Given the description of an element on the screen output the (x, y) to click on. 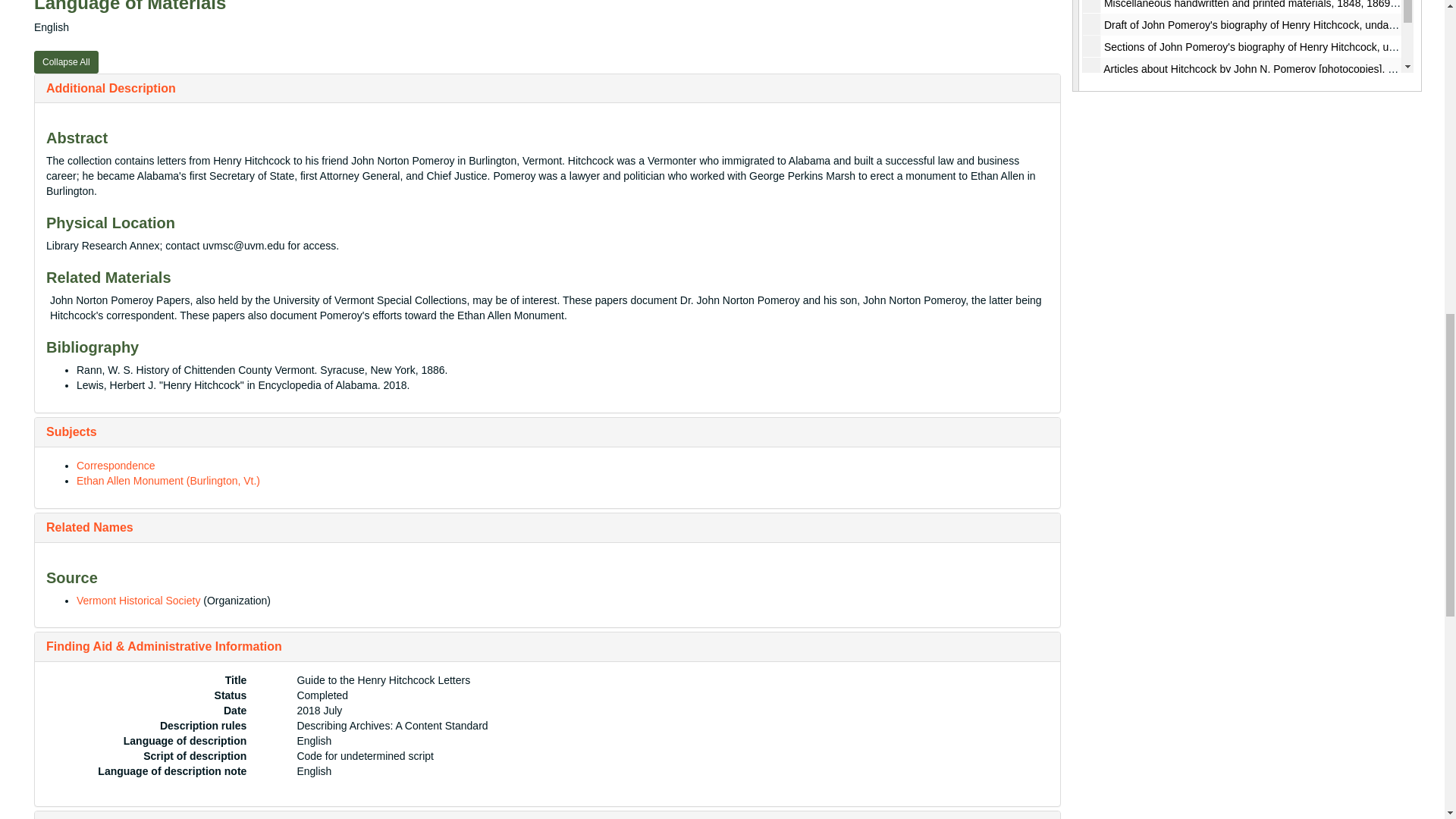
Correspondence (116, 465)
Collapse All (66, 61)
Related Names (89, 526)
Vermont Historical Society (138, 600)
Subjects (71, 431)
Additional Description (111, 88)
